Given the description of an element on the screen output the (x, y) to click on. 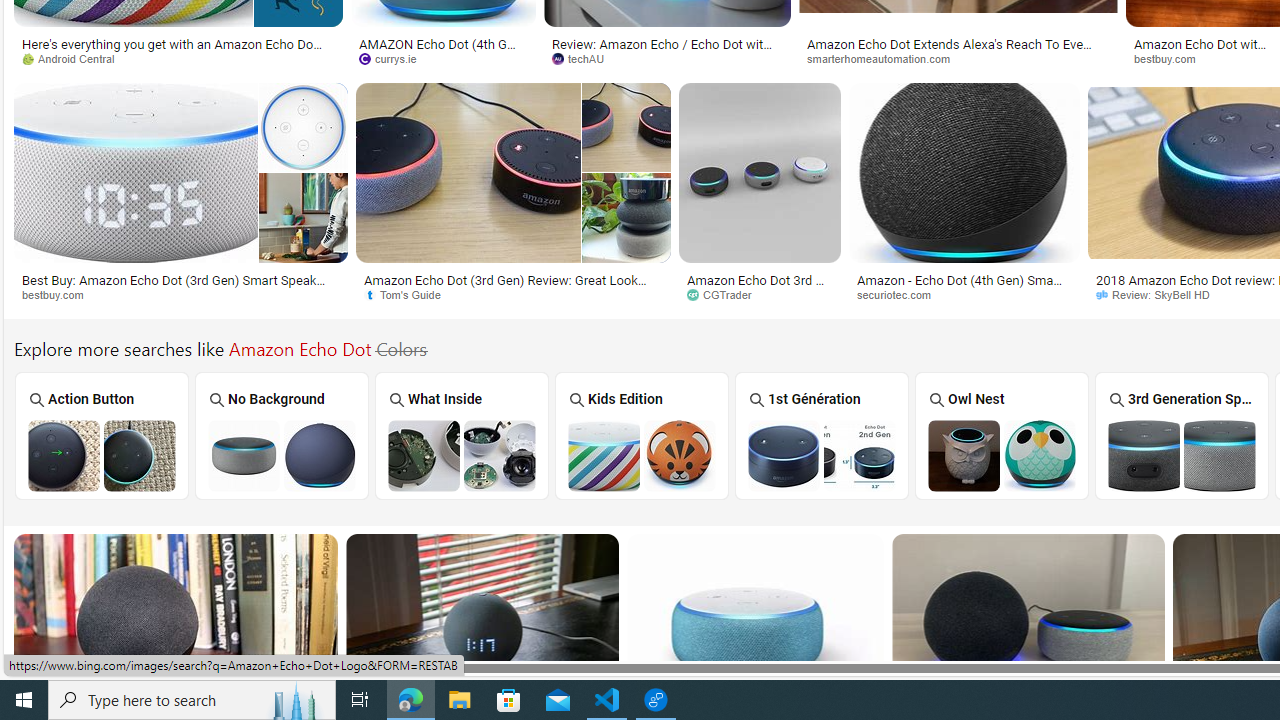
techAU (585, 57)
securiotec.com (900, 294)
Tom's Guide (408, 294)
securiotec.com (964, 295)
Android Central (178, 58)
smarterhomeautomation.com (885, 57)
Amazon Echo Dot Owl and Nest Owl Nest (1002, 435)
